Given the description of an element on the screen output the (x, y) to click on. 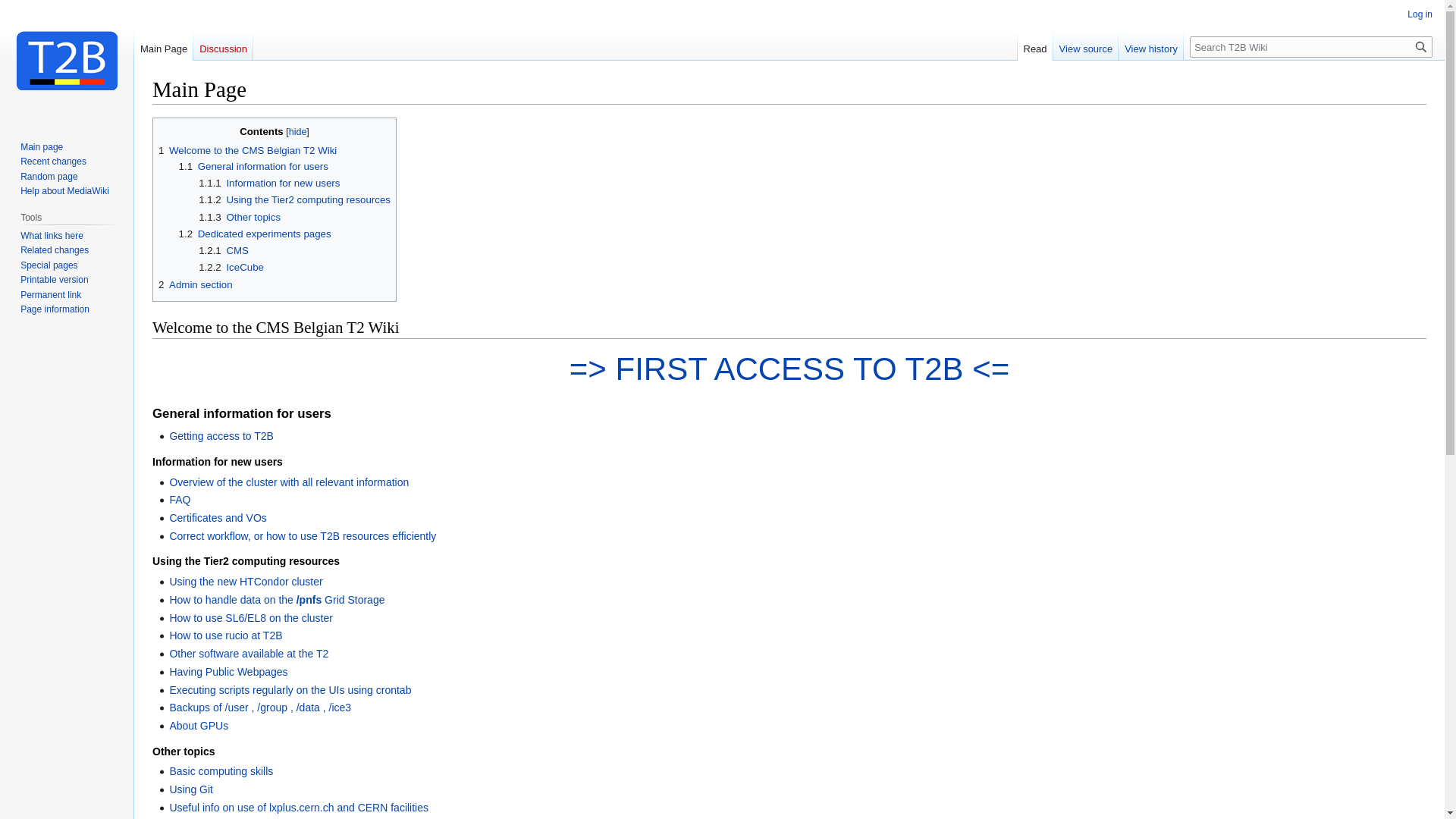
Recent changes Element type: text (53, 161)
Using Git Element type: text (191, 789)
About GPUs Element type: text (198, 725)
Backups of /user , /group , /data , /ice3 Element type: text (260, 707)
1.2 Dedicated experiments pages Element type: text (254, 233)
Page information Element type: text (54, 309)
FAQ Element type: text (179, 499)
Special pages Element type: text (48, 265)
Related changes Element type: text (54, 249)
Overview of the cluster with all relevant information Element type: text (288, 482)
What links here Element type: text (51, 235)
How to use SL6/EL8 on the cluster Element type: text (250, 617)
View history Element type: text (1150, 45)
Useful info on use of lxplus.cern.ch and CERN facilities Element type: text (298, 807)
How to handle data on the /pnfs Grid Storage Element type: text (276, 599)
Using the new HTCondor cluster Element type: text (245, 581)
Random page Element type: text (48, 176)
Other software available at the T2 Element type: text (248, 653)
Visit the main page Element type: hover (66, 60)
Help about MediaWiki Element type: text (64, 190)
How to use rucio at T2B Element type: text (225, 635)
1.1.1 Information for new users Element type: text (268, 182)
Main Page Element type: text (163, 45)
Executing scripts regularly on the UIs using crontab Element type: text (290, 690)
1.1 General information for users Element type: text (253, 166)
Search pages for this text Element type: hover (1420, 46)
Log in Element type: text (1419, 14)
Read Element type: text (1035, 45)
Main page Element type: text (41, 146)
Printable version Element type: text (53, 279)
Certificates and VOs Element type: text (217, 517)
Getting access to T2B Element type: text (221, 435)
2 Admin section Element type: text (195, 284)
1.2.1 CMS Element type: text (223, 250)
Permanent link Element type: text (50, 294)
Having Public Webpages Element type: text (228, 671)
Discussion Element type: text (223, 45)
Basic computing skills Element type: text (221, 771)
=> FIRST ACCESS TO T2B <= Element type: text (789, 368)
Search T2B Wiki [alt-shift-f] Element type: hover (1310, 46)
1.1.3 Other topics Element type: text (239, 216)
1 Welcome to the CMS Belgian T2 Wiki Element type: text (247, 150)
Search Element type: text (1420, 46)
View source Element type: text (1086, 45)
1.2.2 IceCube Element type: text (230, 267)
Jump to navigation Element type: text (151, 116)
Correct workflow, or how to use T2B resources efficiently Element type: text (302, 536)
1.1.2 Using the Tier2 computing resources Element type: text (294, 199)
